Given the description of an element on the screen output the (x, y) to click on. 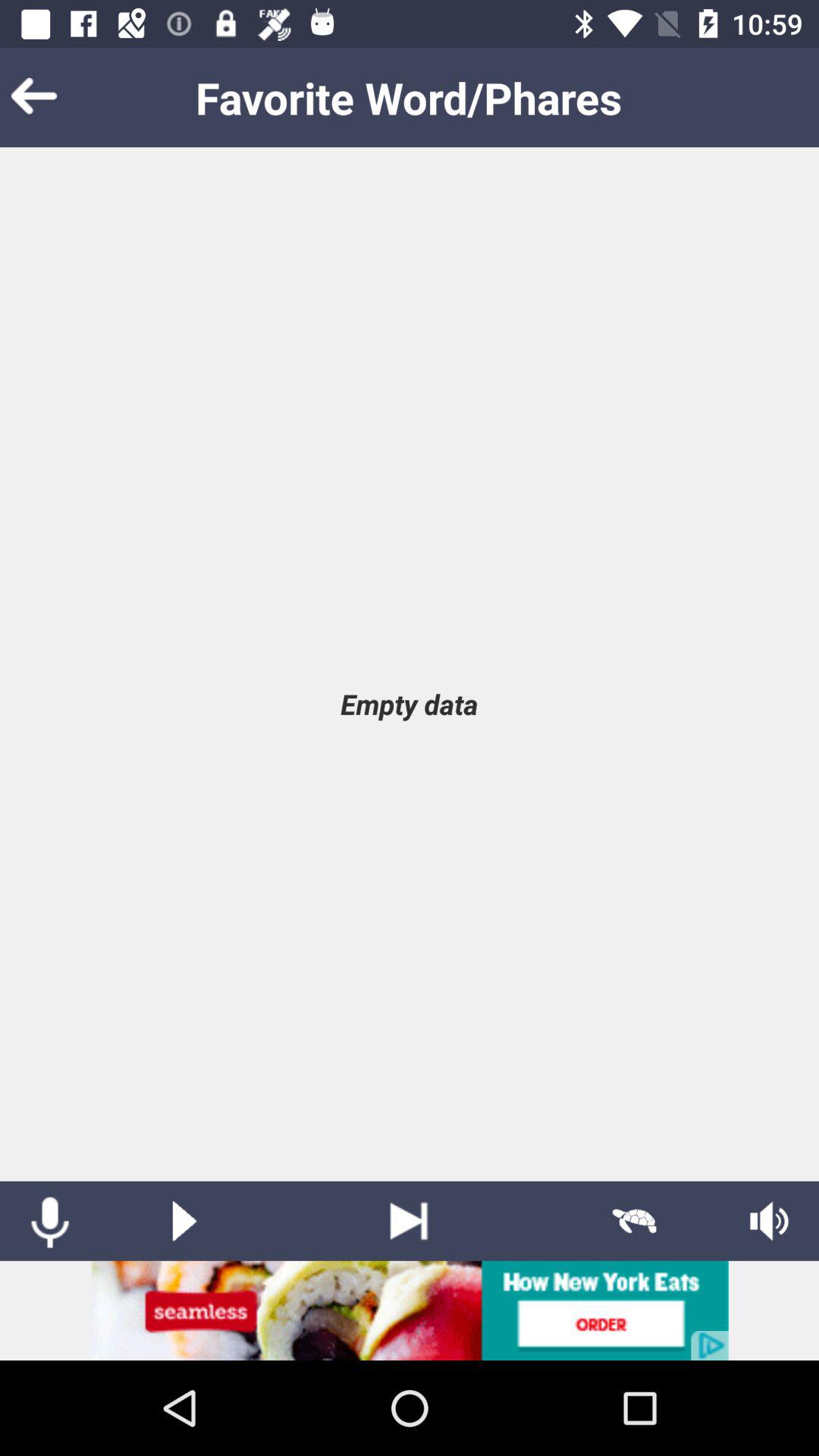
advertisement page (409, 1310)
